Given the description of an element on the screen output the (x, y) to click on. 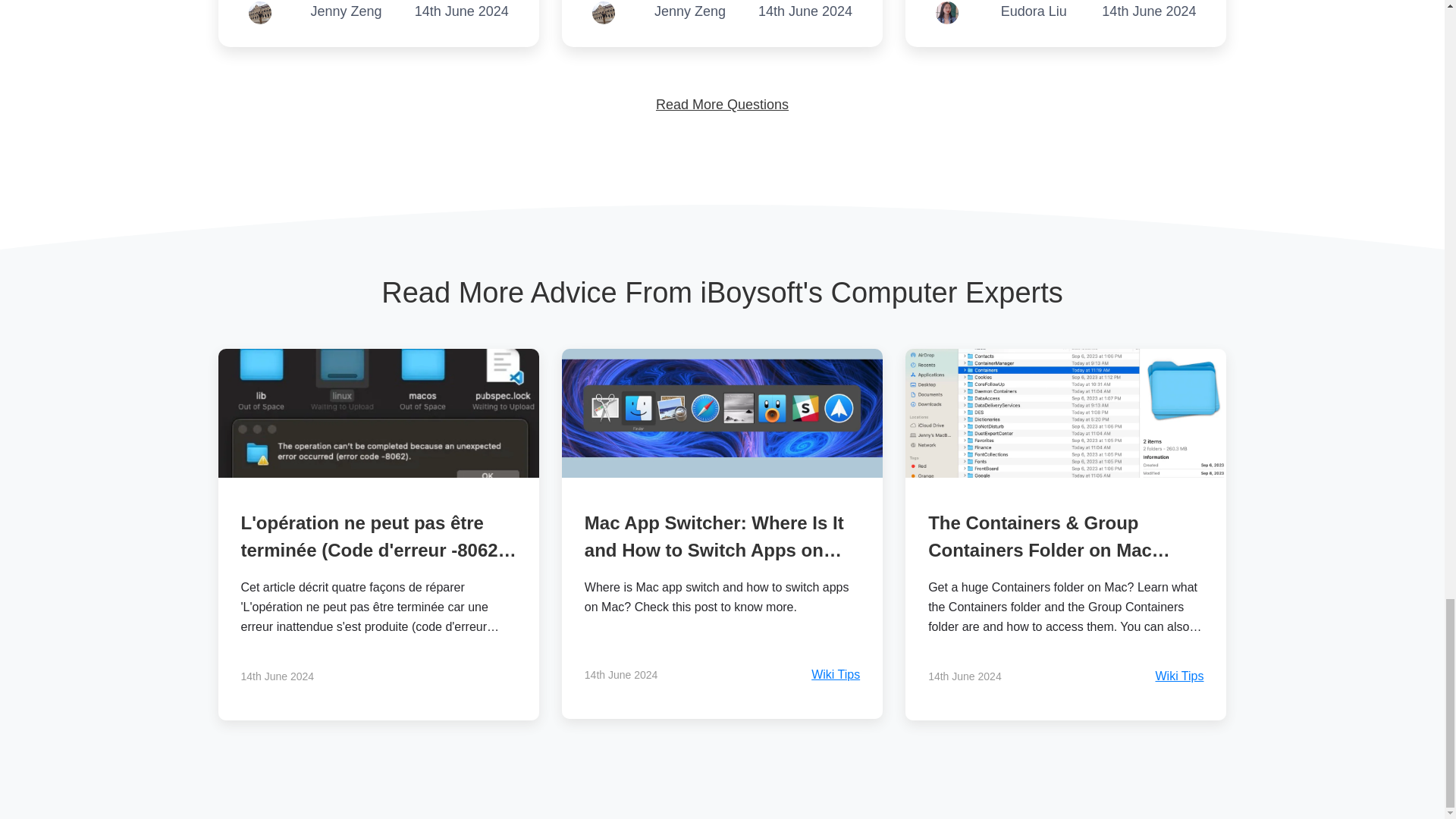
Mac App Switcher: Where Is It and How to Switch Apps on Mac (714, 550)
Jenny Zeng (346, 12)
Eudora Liu (1034, 12)
Jenny Zeng (689, 12)
Wiki Tips (1179, 676)
Read More Questions (722, 104)
Wiki Tips (835, 674)
